Given the description of an element on the screen output the (x, y) to click on. 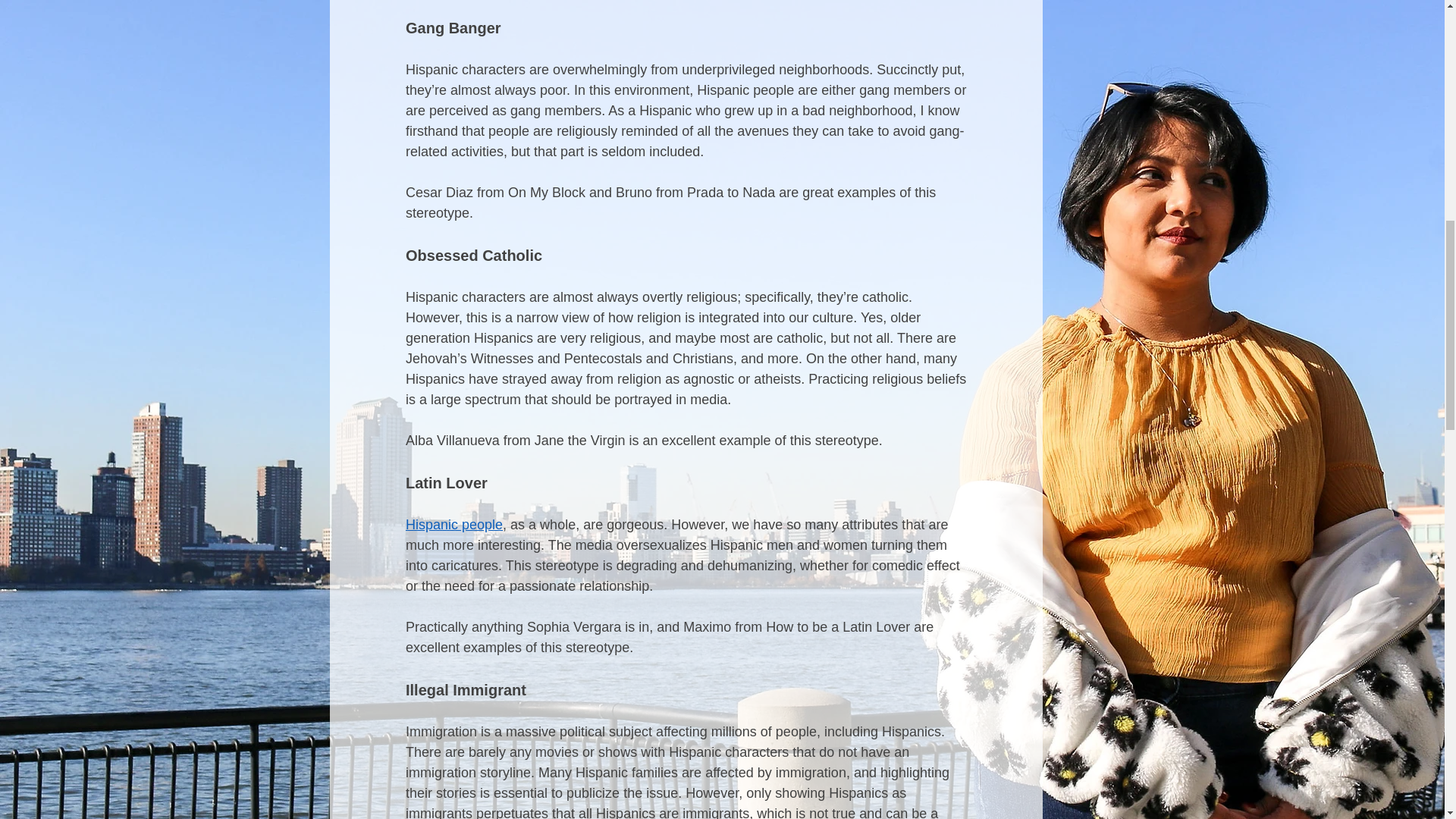
Hispanic people (453, 524)
